Given the description of an element on the screen output the (x, y) to click on. 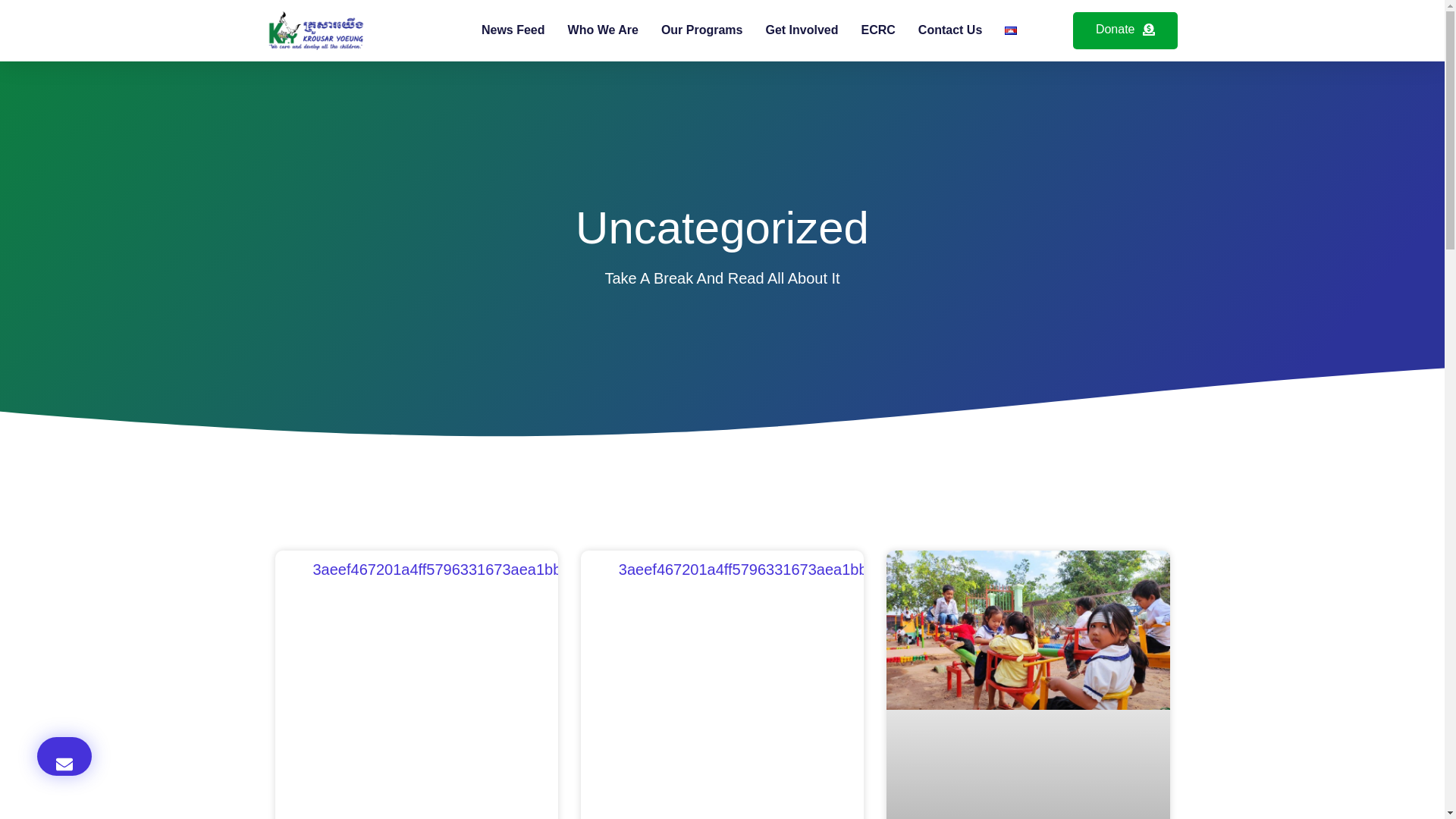
Contact Us (949, 30)
News Feed (512, 30)
Get Involved (801, 30)
Our Programs (701, 30)
Who We Are (603, 30)
ECRC (878, 30)
